Given the description of an element on the screen output the (x, y) to click on. 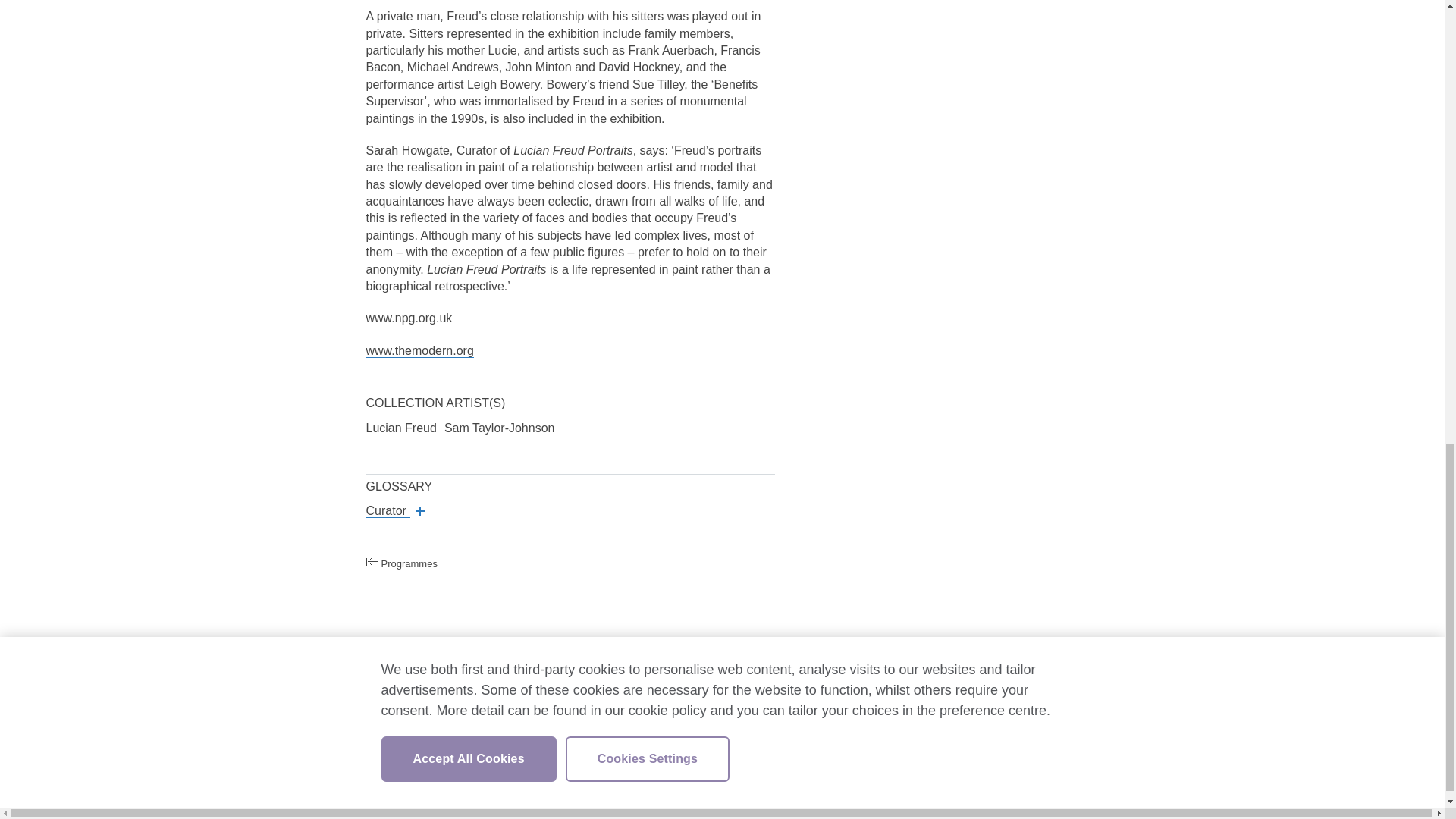
Go to Sam Taylor-Johnson (499, 427)
Go to Lucian Freud (400, 427)
www.npg.org.uk (408, 318)
Curator (395, 510)
Lucian Freud (400, 427)
www.themodern.org (419, 350)
Copyright and Permissions (443, 688)
Programmes (424, 563)
Sam Taylor-Johnson (499, 427)
Read more about Curator (395, 510)
